Given the description of an element on the screen output the (x, y) to click on. 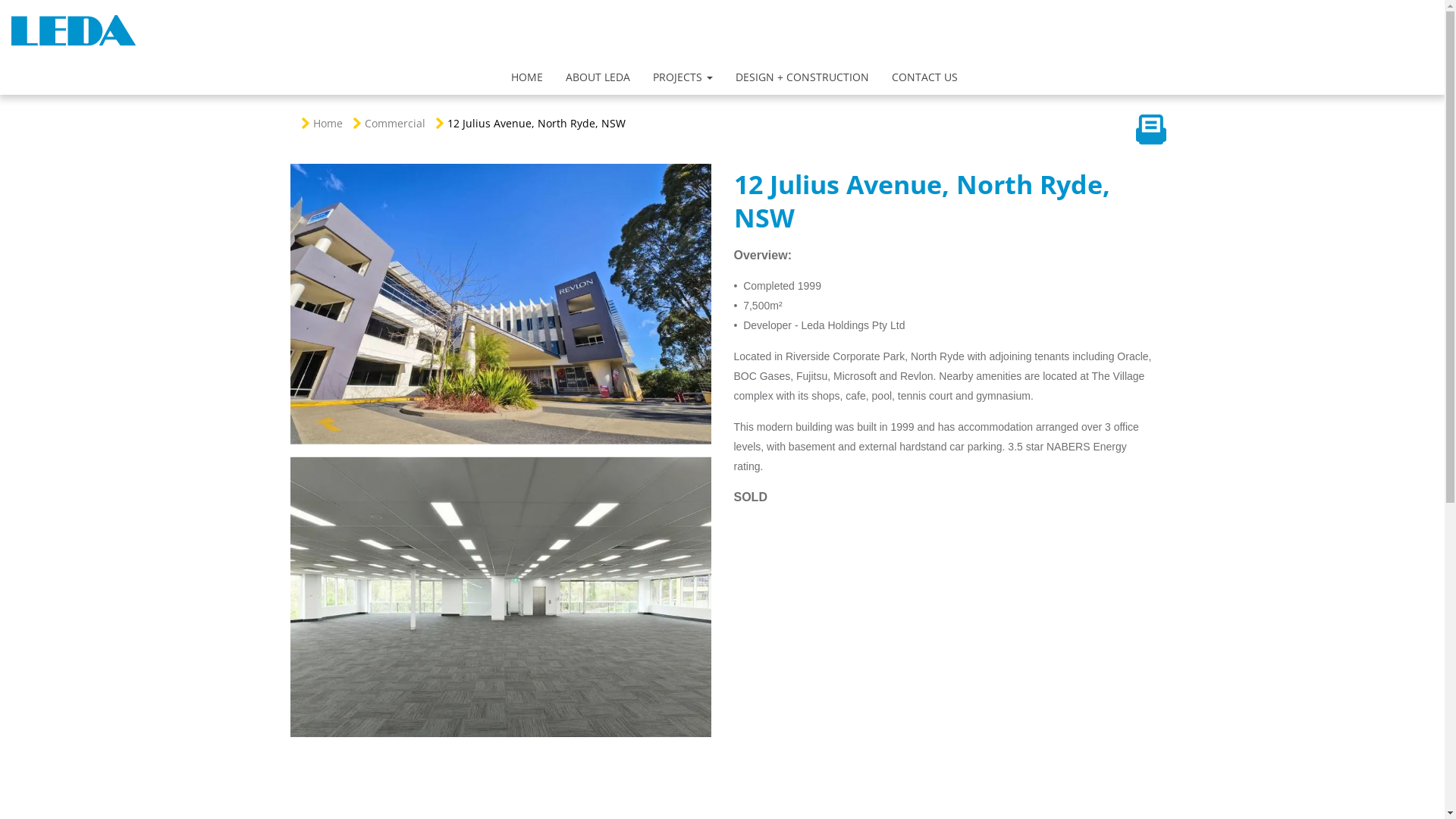
Commercial Element type: text (394, 123)
Leda  Logo Element type: hover (72, 29)
PROJECTS Element type: text (682, 77)
Home Element type: text (327, 123)
DESIGN + CONSTRUCTION Element type: text (802, 77)
12 Julius Avenue, North Ryde, NSW Element type: text (536, 123)
CONTACT US Element type: text (924, 77)
HOME Element type: text (526, 77)
ABOUT LEDA Element type: text (597, 77)
